Given the description of an element on the screen output the (x, y) to click on. 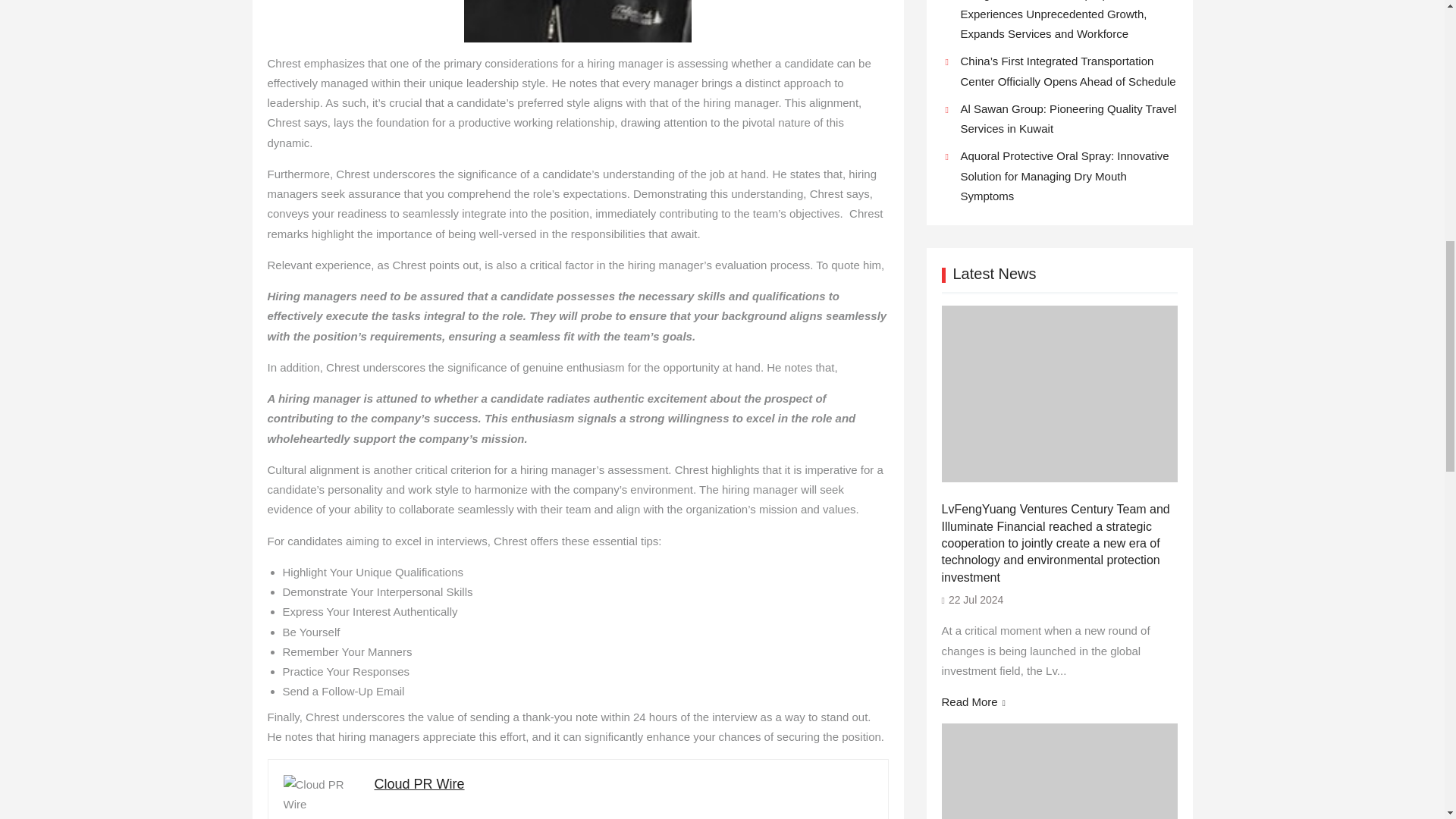
Cloud PR Wire (419, 783)
